Given the description of an element on the screen output the (x, y) to click on. 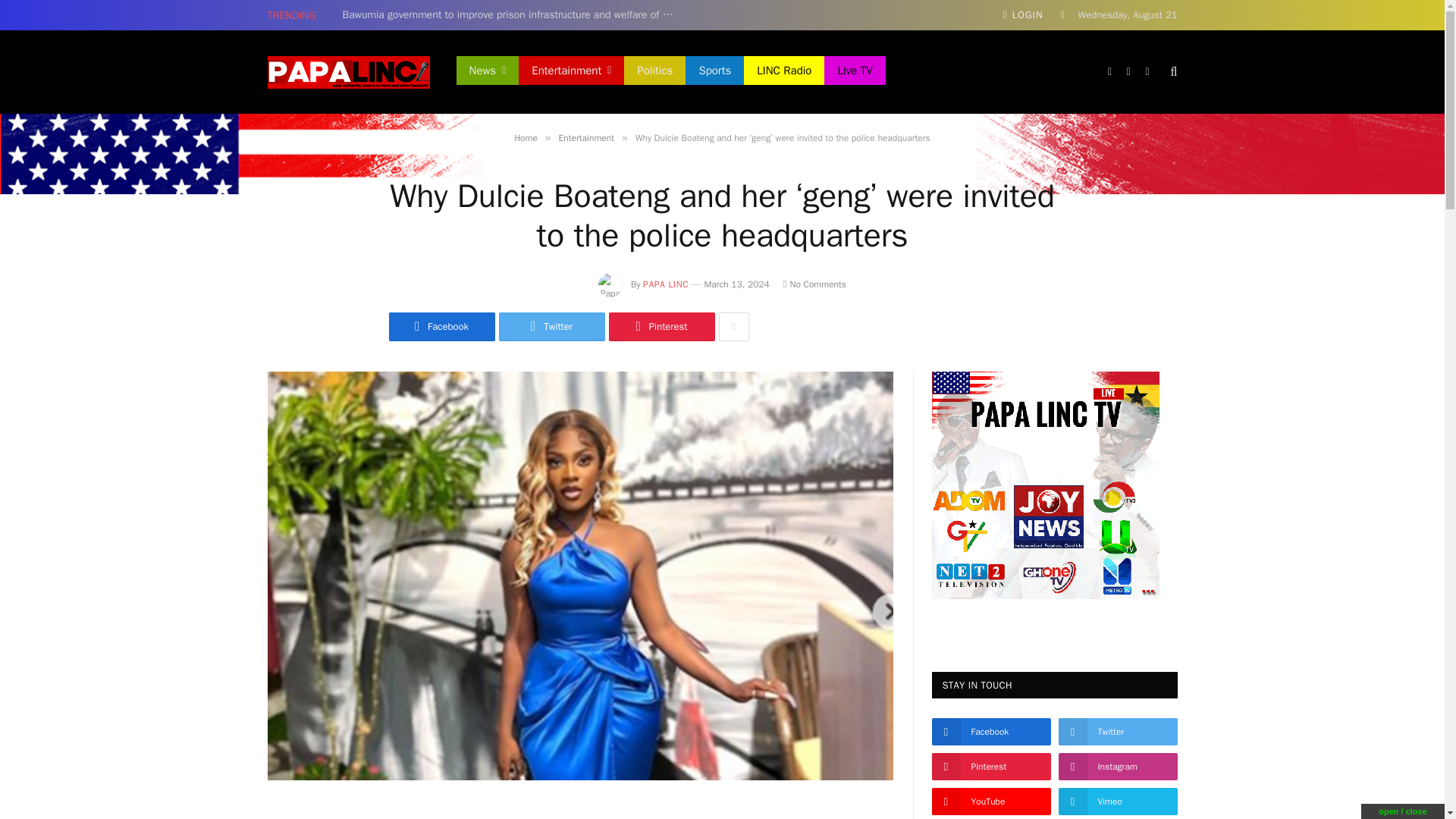
Politics (654, 70)
News (488, 70)
LINC Radio (784, 70)
Posts by Papa Linc (665, 284)
Entertainment (571, 70)
Sports (714, 70)
Switch to Dark Design - easier on eyes. (1062, 14)
Live TV (854, 70)
Share on Facebook (441, 326)
MC PAPA LINC (347, 72)
